Given the description of an element on the screen output the (x, y) to click on. 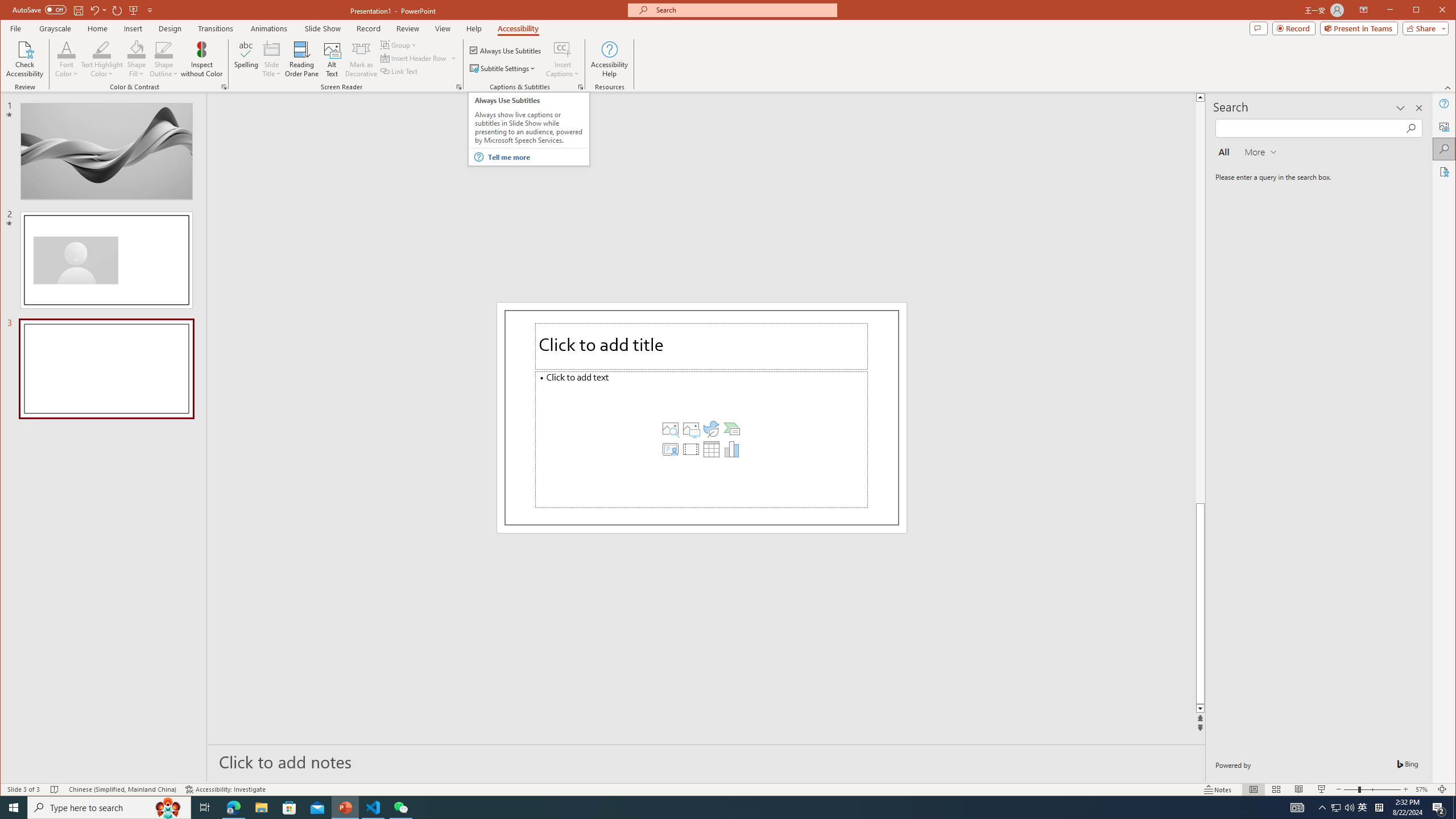
Tell me more (536, 157)
Mark as Decorative (360, 59)
